Given the description of an element on the screen output the (x, y) to click on. 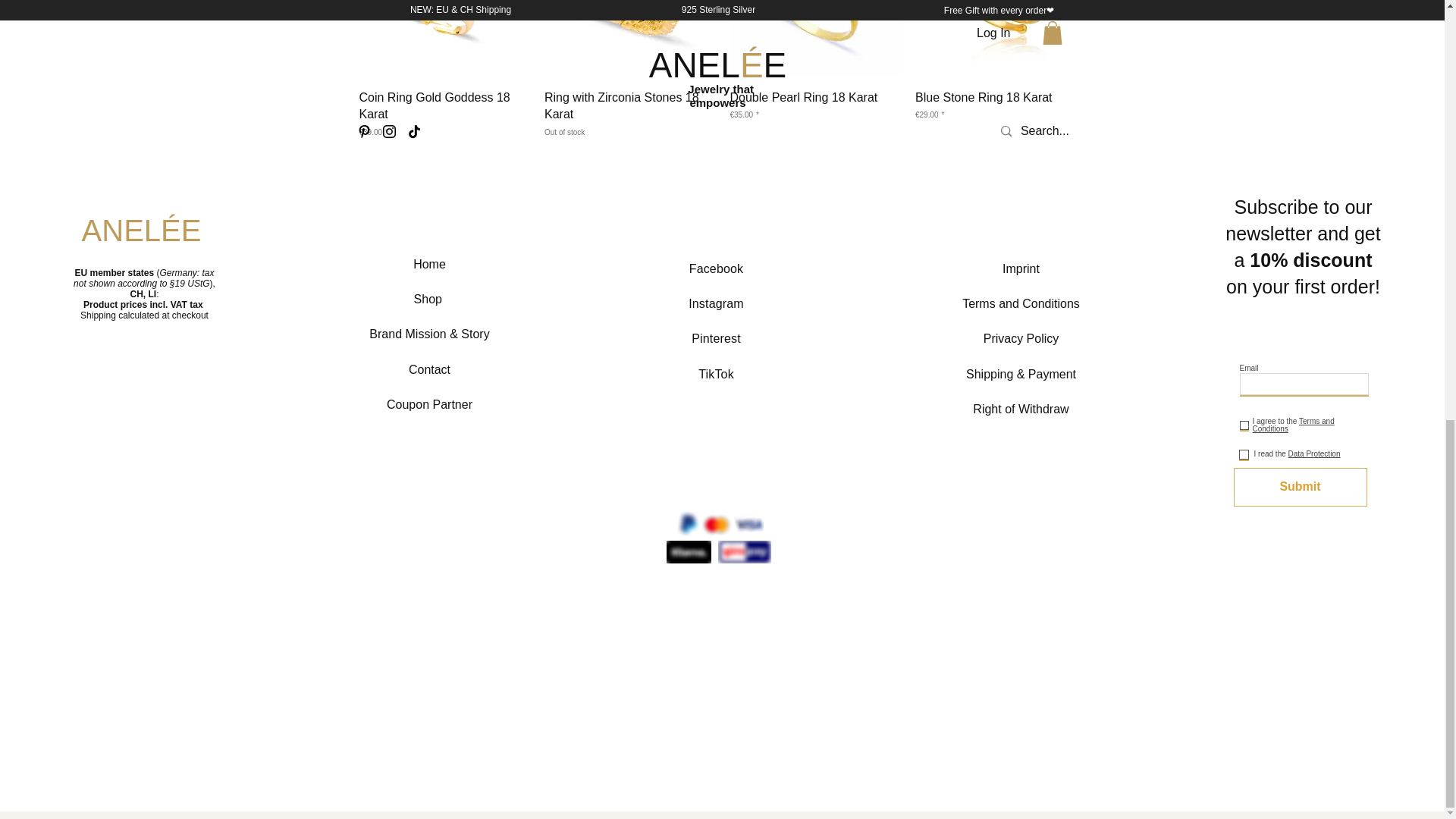
Bestseller (444, 38)
